Given the description of an element on the screen output the (x, y) to click on. 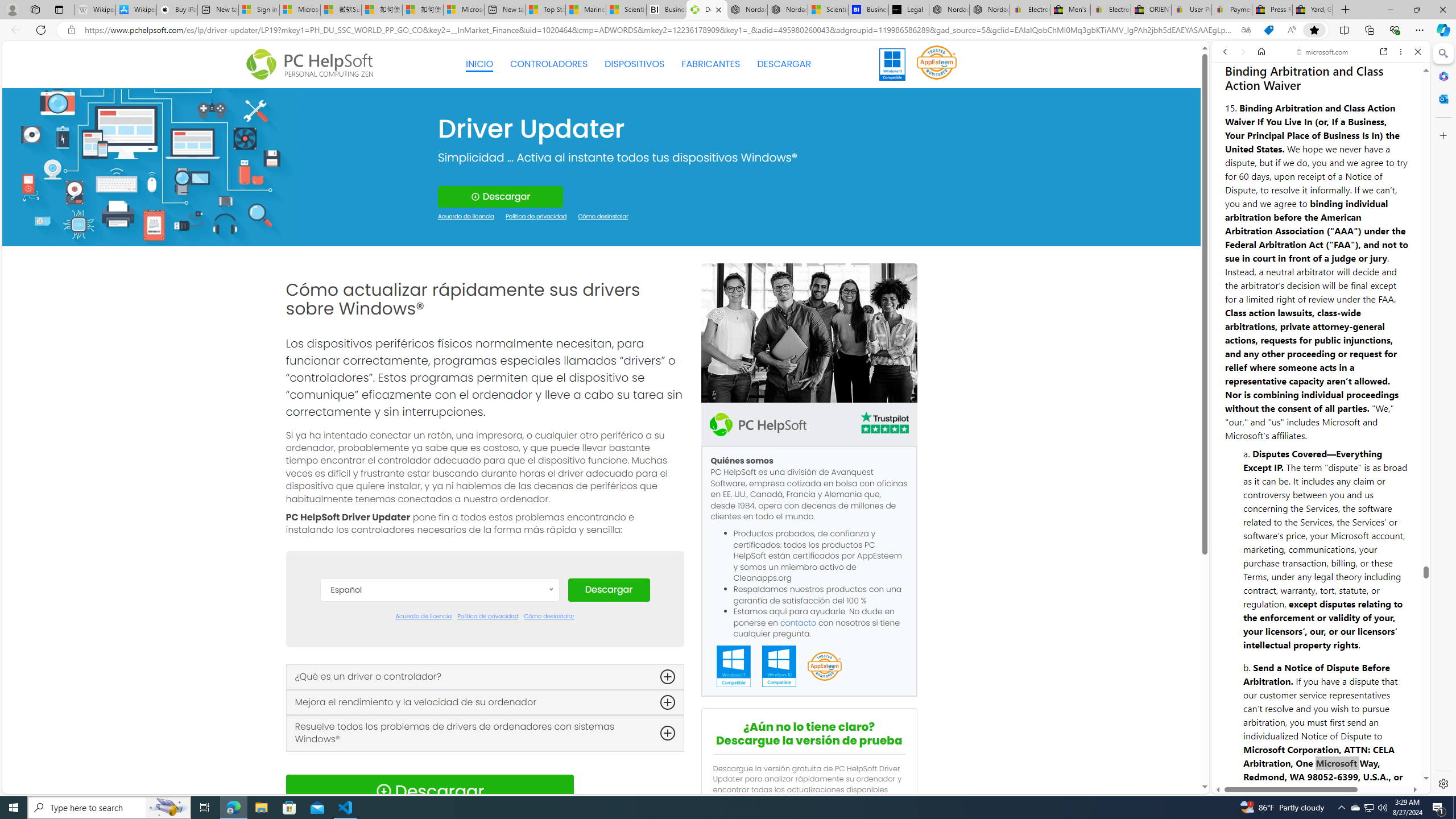
PCHelpsoft (757, 423)
DESCARGAR (783, 64)
Download Icon (383, 791)
contacto (798, 622)
team (808, 332)
TrustPilot (884, 422)
English (439, 695)
CONTROLADORES (548, 64)
